Given the description of an element on the screen output the (x, y) to click on. 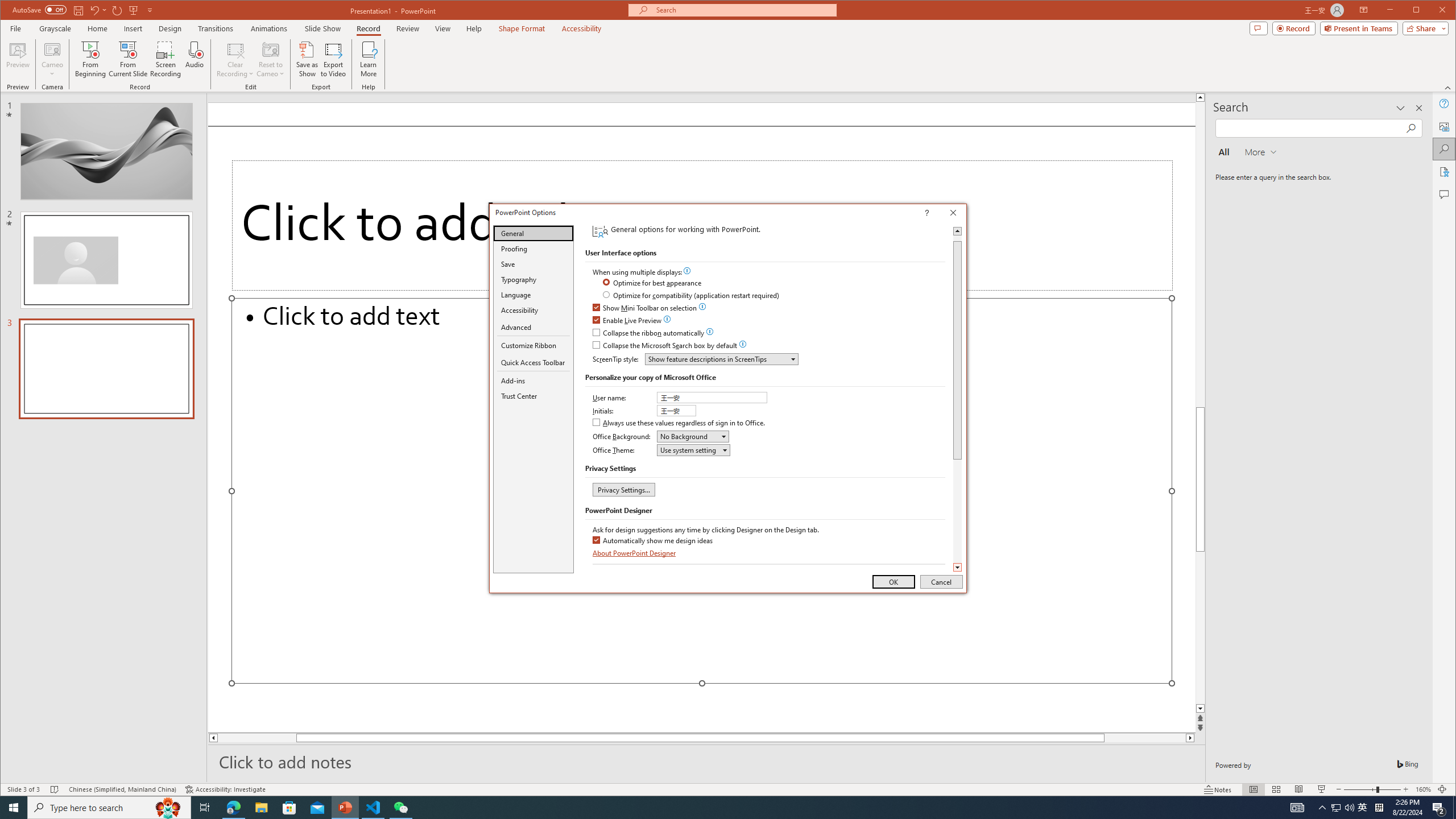
Typography (533, 279)
Export to Video (333, 59)
Office Background (692, 436)
